Given the description of an element on the screen output the (x, y) to click on. 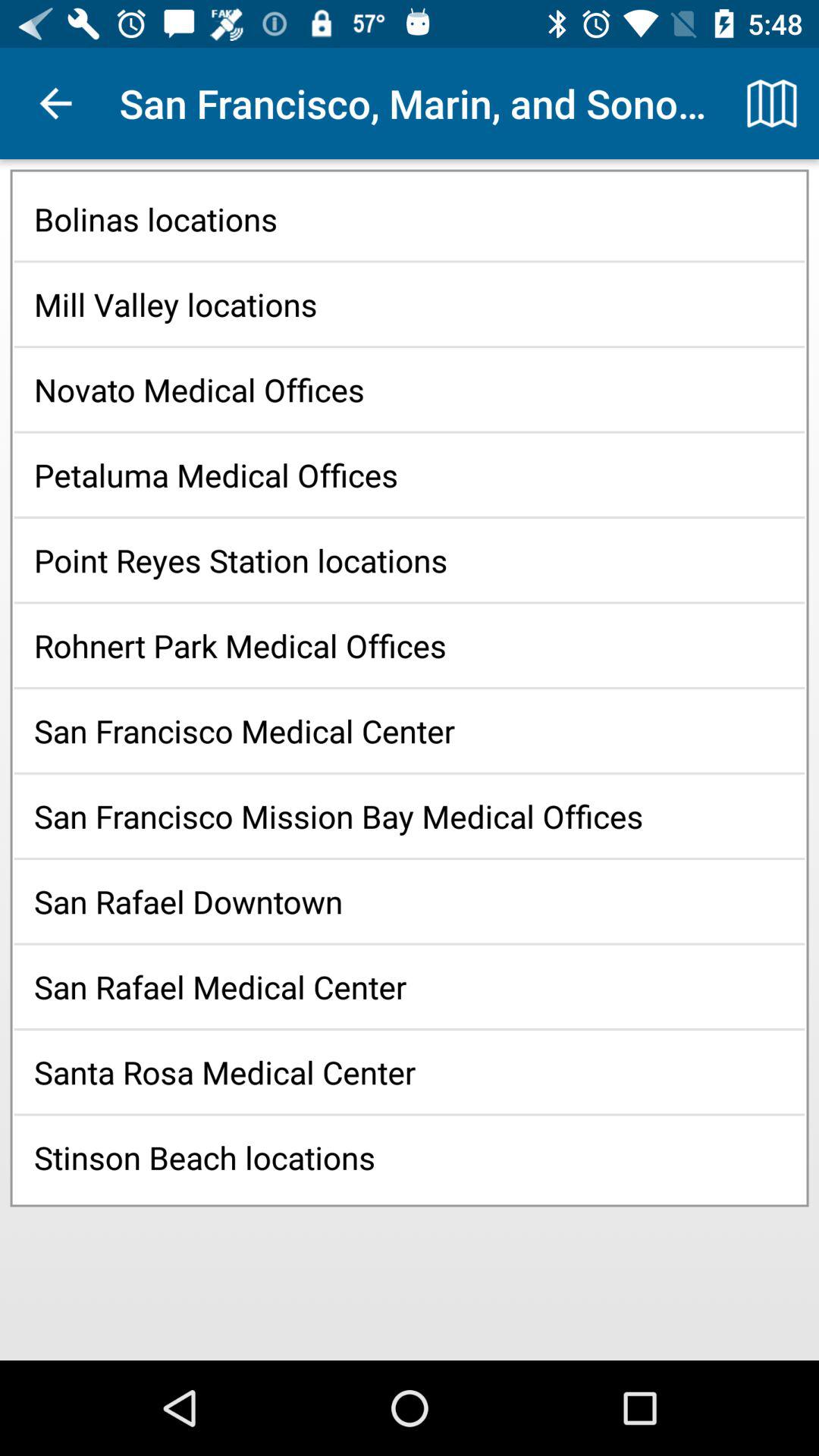
turn off the bolinas locations (409, 218)
